Given the description of an element on the screen output the (x, y) to click on. 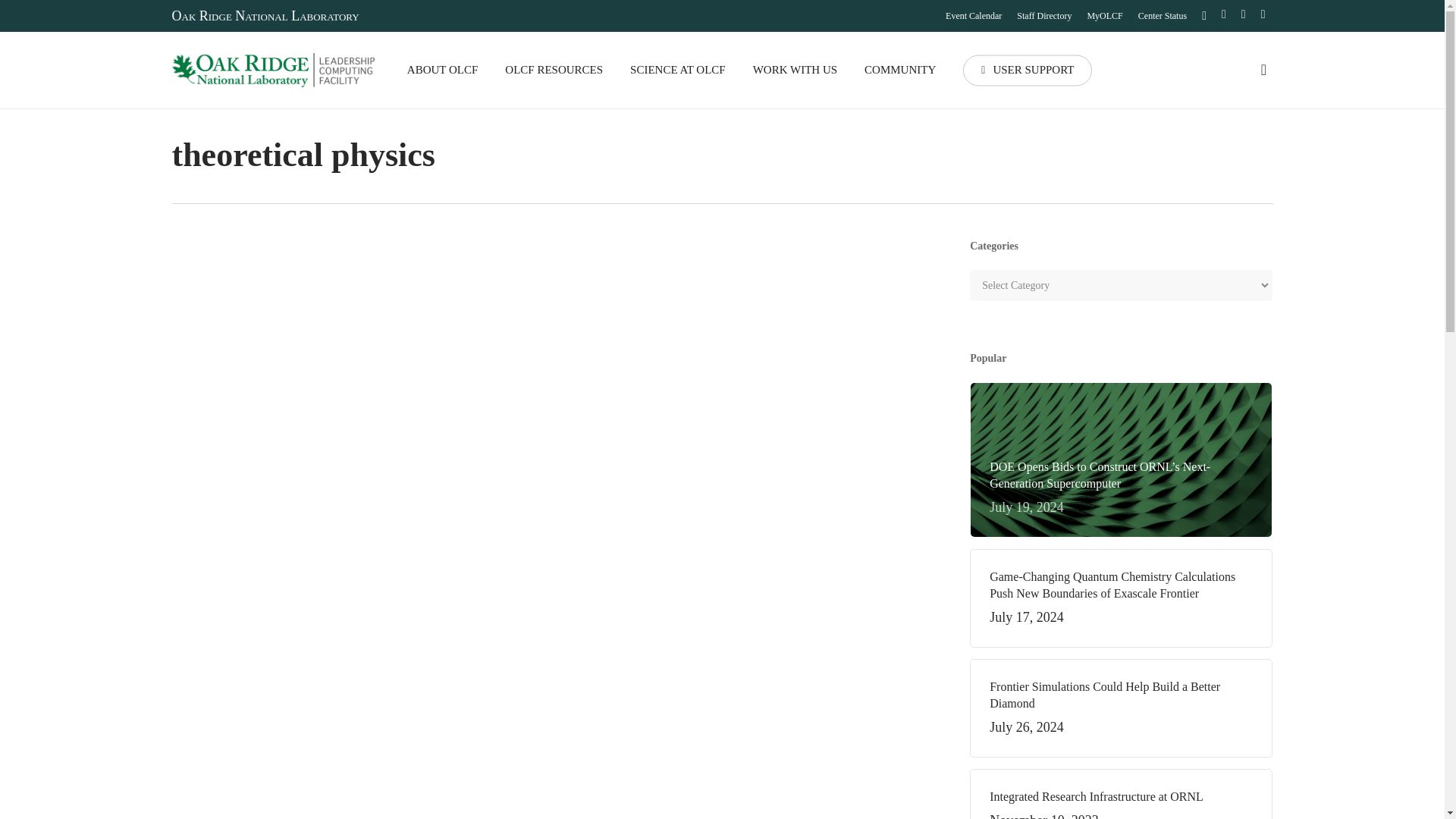
Staff Directory (1043, 15)
ABOUT OLCF (443, 69)
Oak Ridge National Laboratory (264, 15)
MyOLCF (1104, 15)
Center Status (1162, 15)
SCIENCE AT OLCF (677, 69)
OLCF RESOURCES (553, 69)
Event Calendar (972, 15)
